Given the description of an element on the screen output the (x, y) to click on. 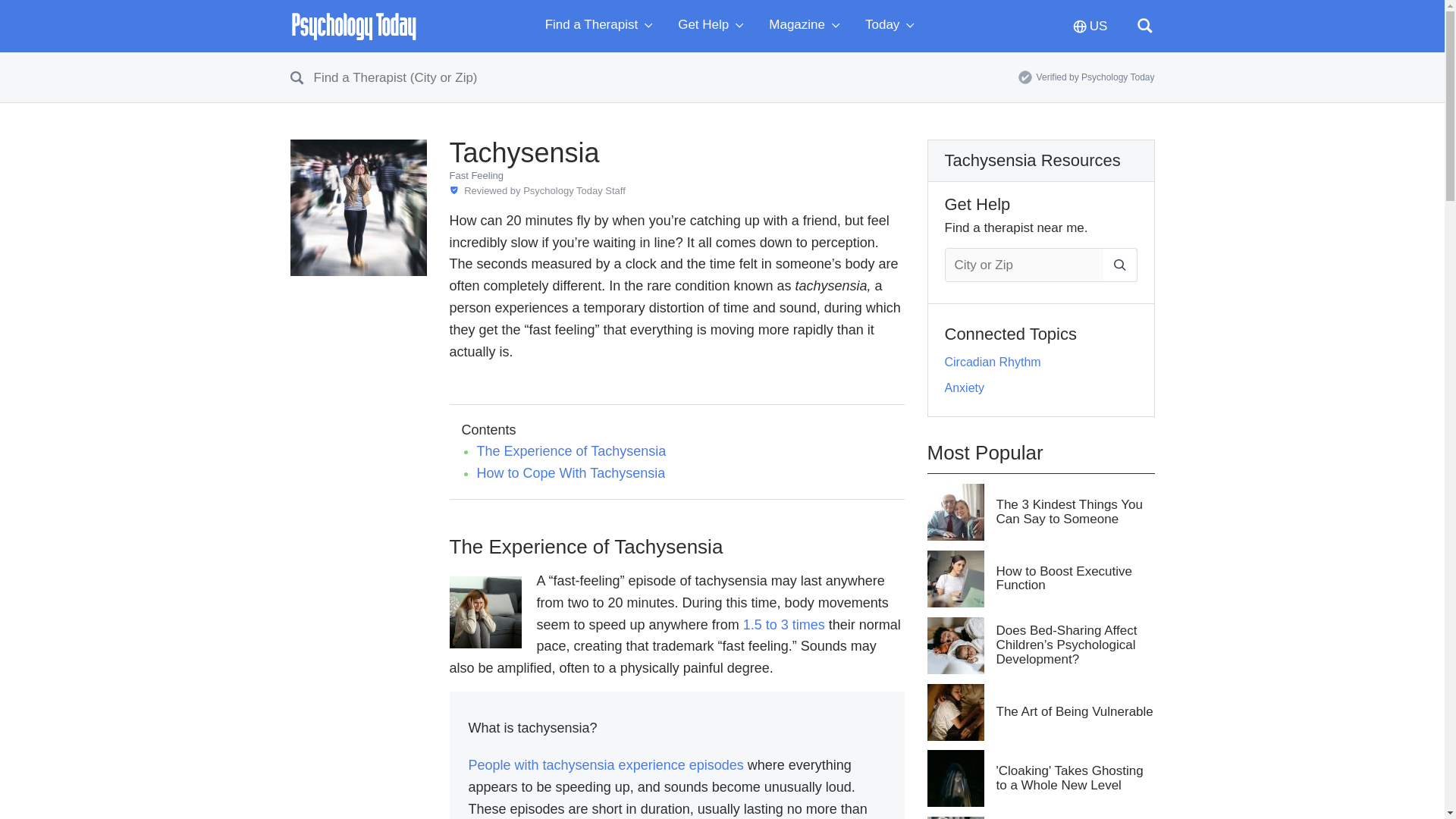
Psychology Today (352, 25)
Find a Therapist (602, 25)
Get Help (714, 25)
